Given the description of an element on the screen output the (x, y) to click on. 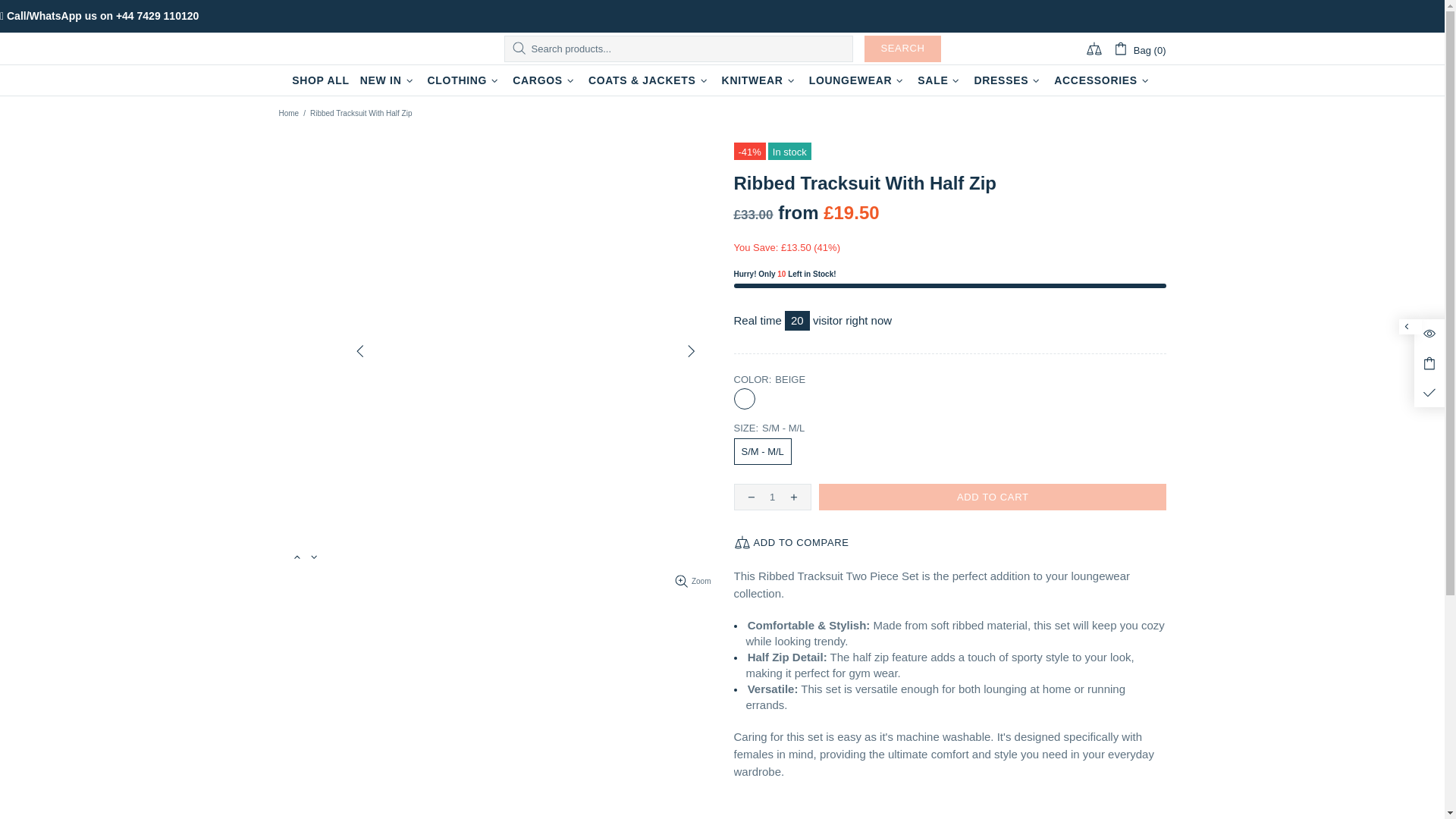
1 (771, 497)
NEW IN (388, 80)
SEARCH (902, 49)
CLOTHING (464, 80)
Zuhoo (349, 48)
SHOP ALL (320, 80)
